Given the description of an element on the screen output the (x, y) to click on. 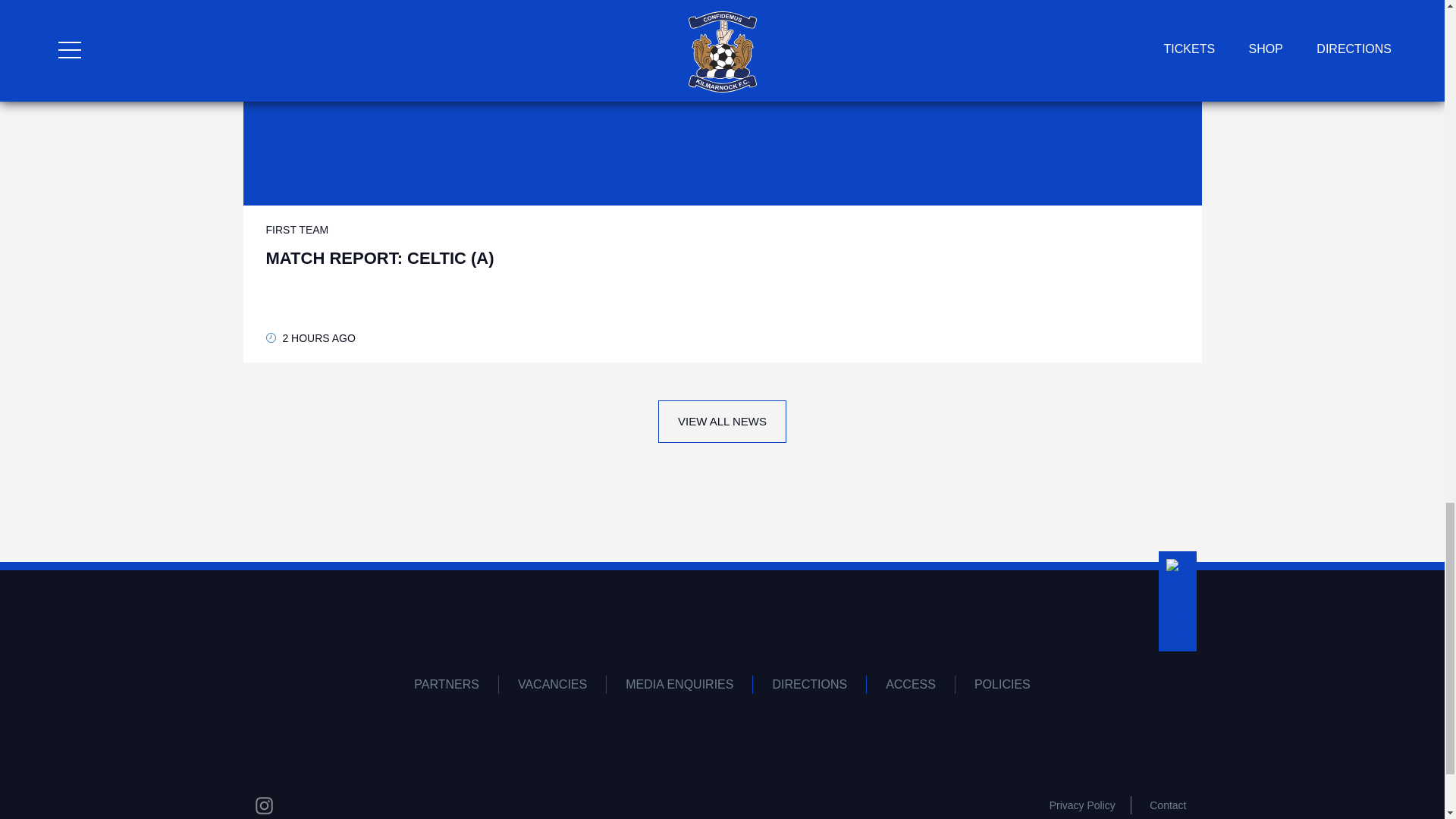
Privacy Policy (1082, 805)
ACCESS (910, 684)
DIRECTIONS (809, 684)
POLICIES (1002, 684)
MEDIA ENQUIRIES (679, 684)
PARTNERS (446, 684)
VACANCIES (553, 684)
VIEW ALL NEWS (722, 421)
